Given the description of an element on the screen output the (x, y) to click on. 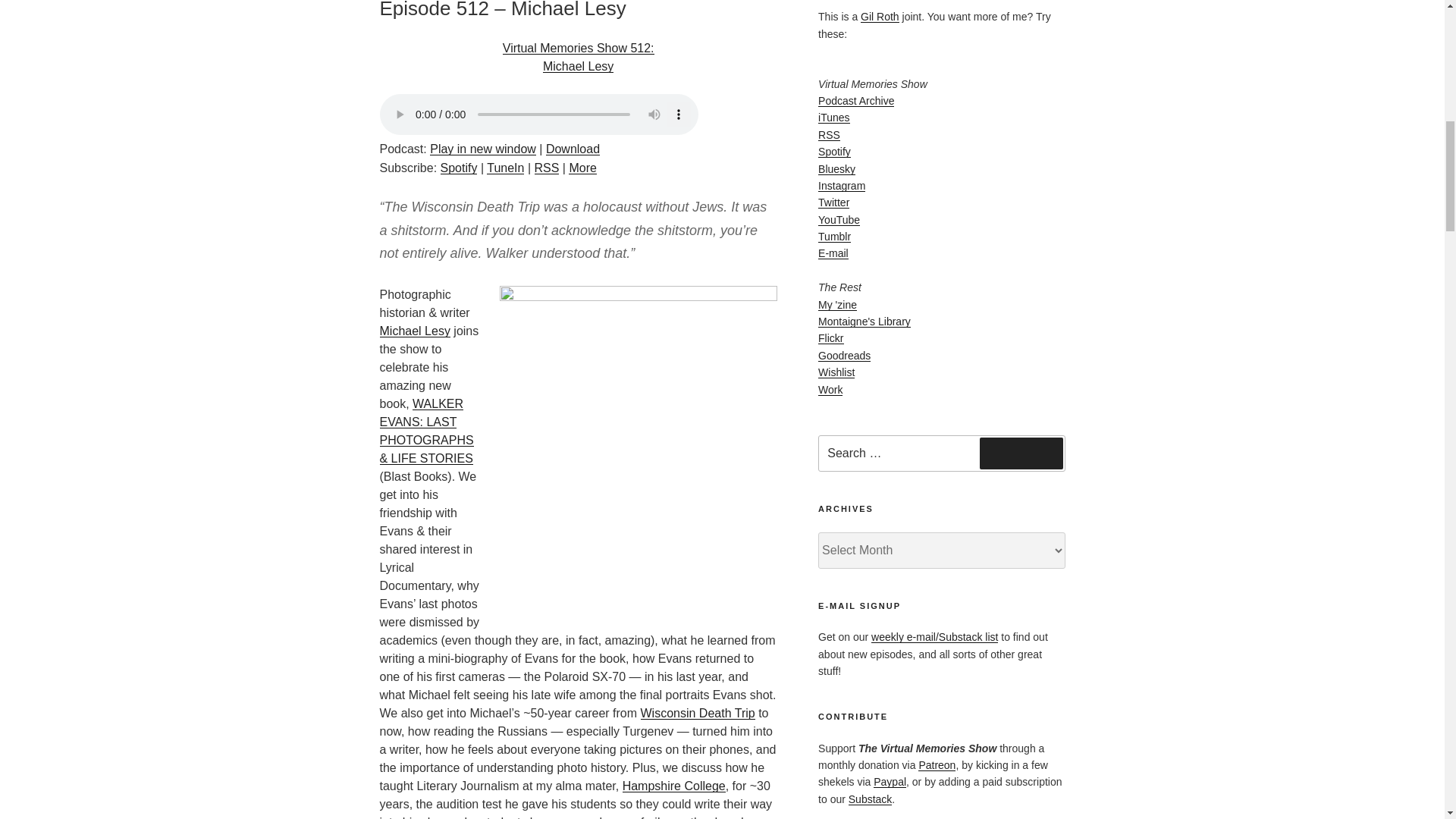
Subscribe on Spotify (459, 167)
Download (572, 148)
Subscribe via RSS (546, 167)
More (582, 167)
Play in new window (482, 148)
Subscribe on TuneIn (577, 56)
